Given the description of an element on the screen output the (x, y) to click on. 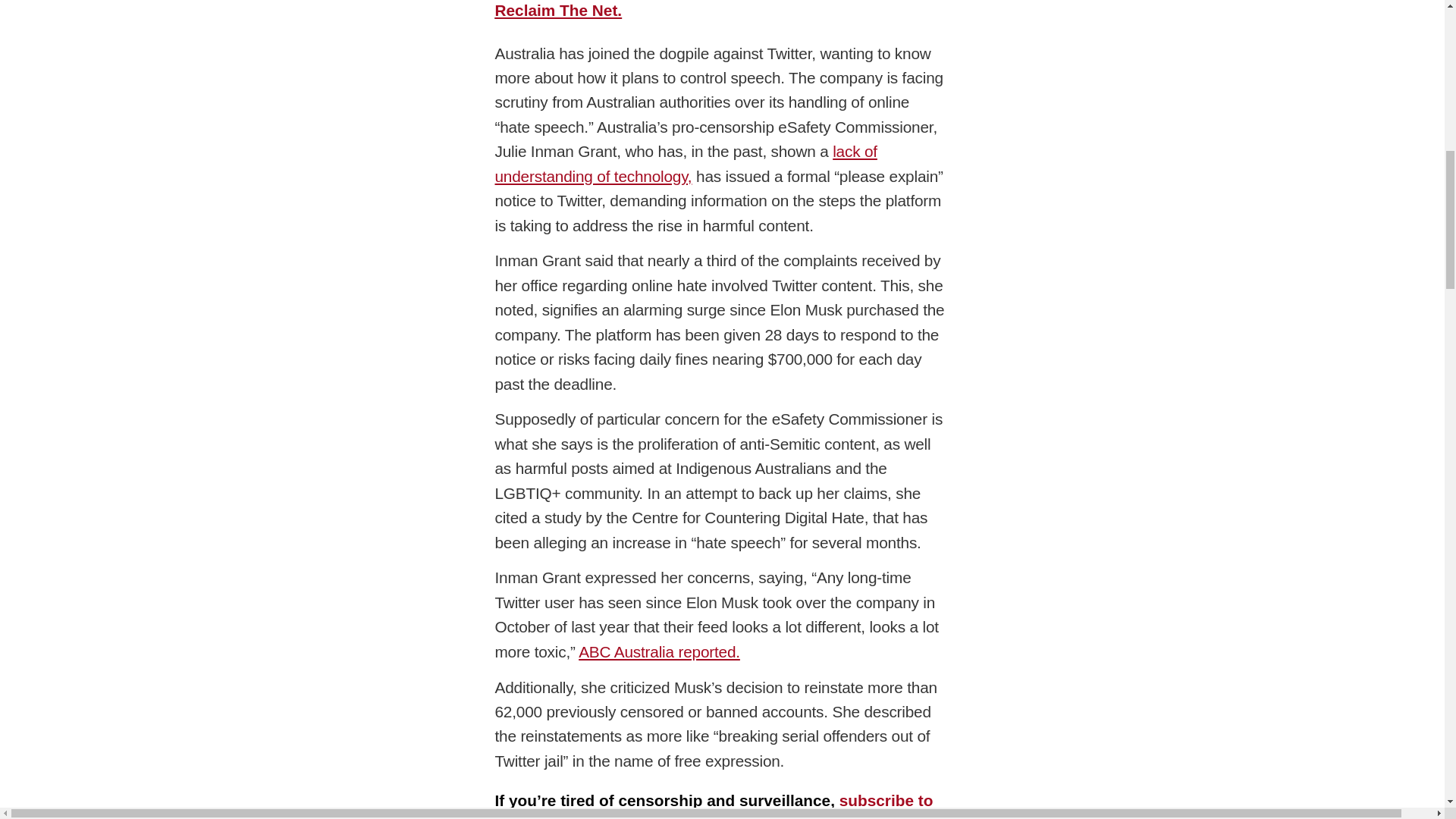
subscribe to Reclaim The Net. (714, 9)
subscribe to Reclaim The Net. (714, 805)
ABC Australia reported. (658, 651)
lack of understanding of technology, (685, 163)
